Given the description of an element on the screen output the (x, y) to click on. 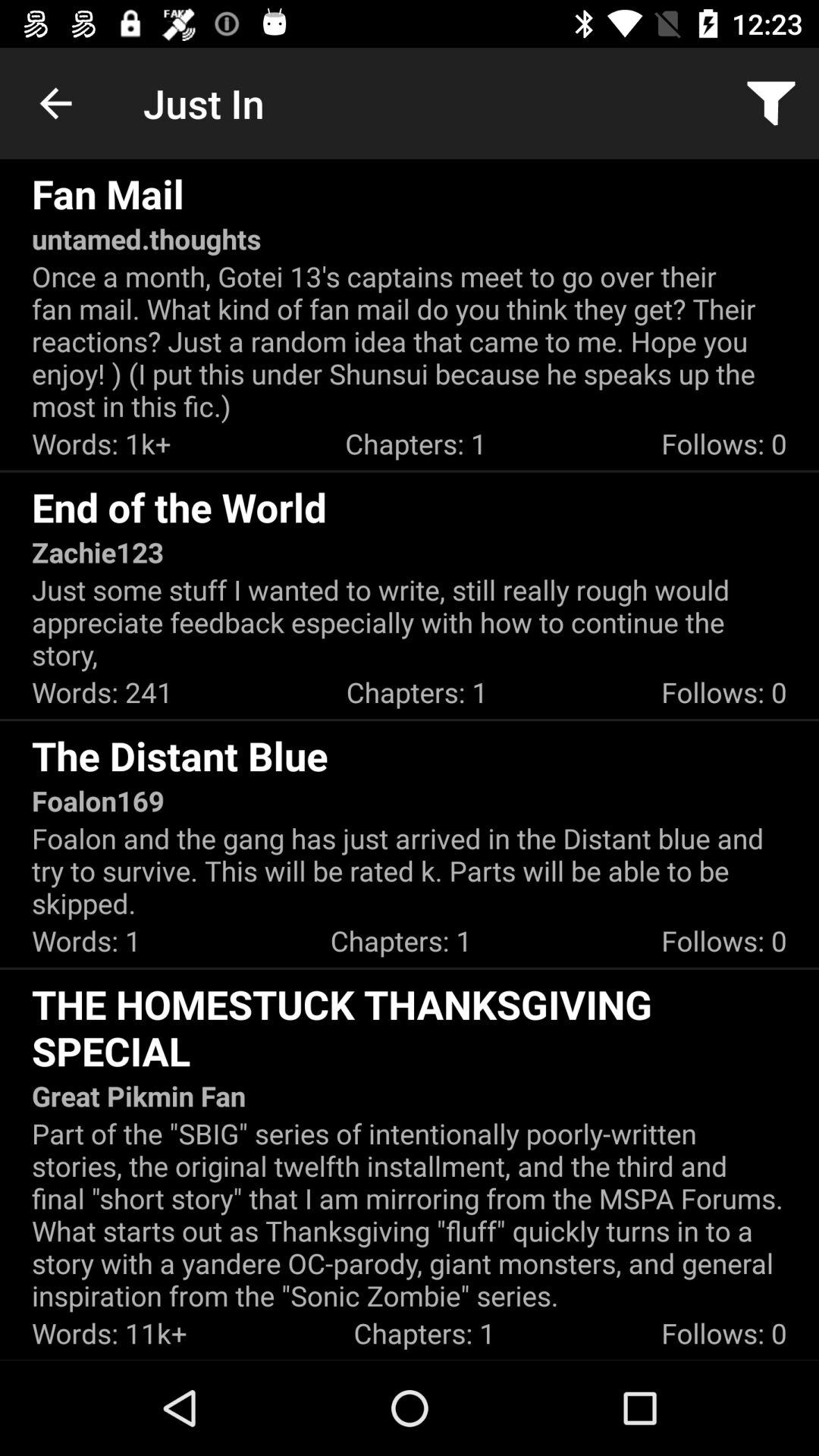
turn on item above once a month icon (771, 103)
